Given the description of an element on the screen output the (x, y) to click on. 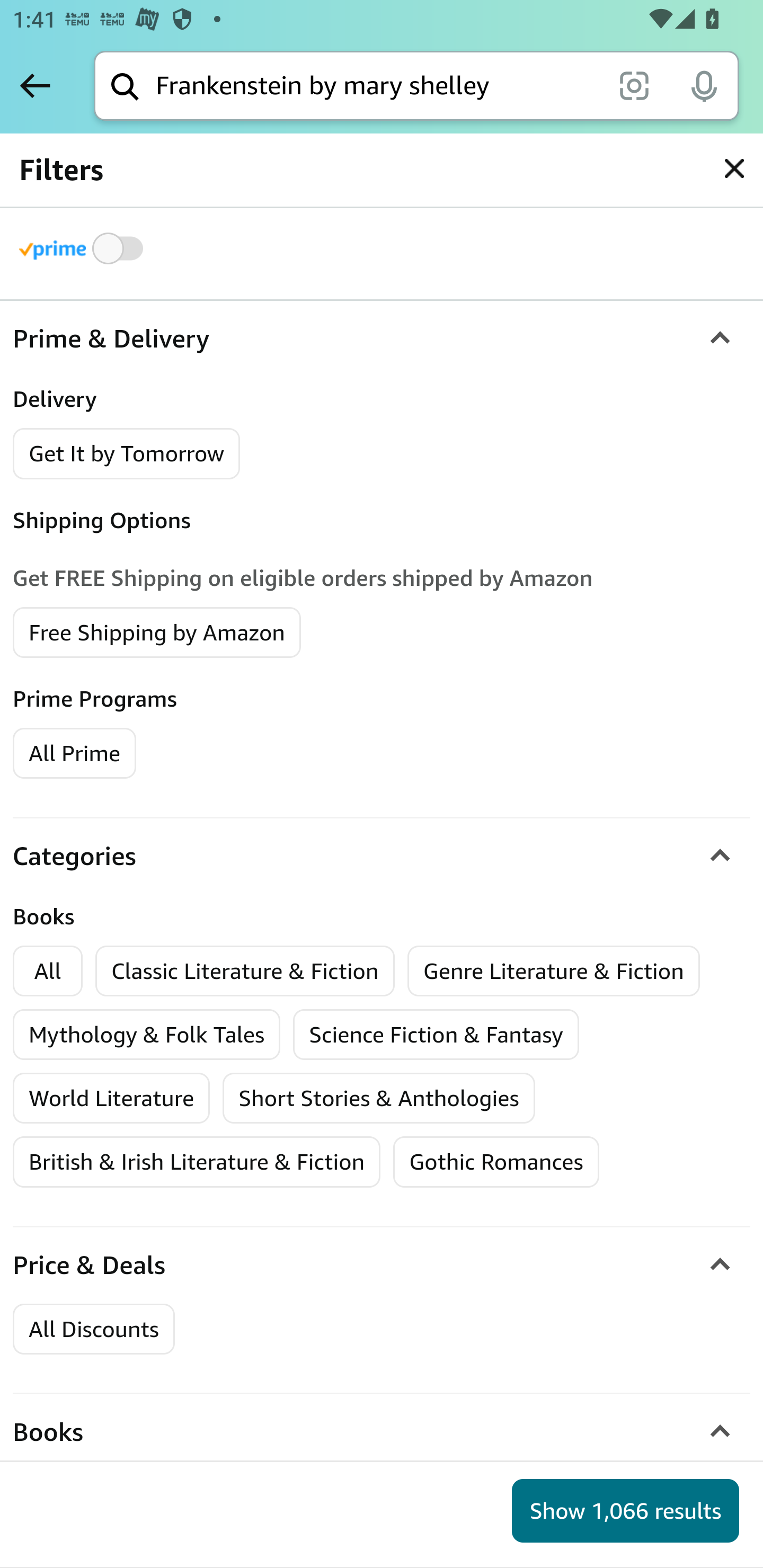
Back (35, 85)
scan it (633, 85)
Toggle to filter by Prime products Prime Eligible (83, 247)
Prime & Delivery (381, 339)
Get It by Tomorrow (126, 453)
Free Shipping by Amazon (157, 631)
All Prime (74, 752)
Categories (381, 855)
All (47, 970)
Classic Literature & Fiction (245, 970)
Genre Literature & Fiction (553, 970)
Mythology & Folk Tales (146, 1035)
Science Fiction & Fantasy (435, 1035)
World Literature (111, 1098)
Short Stories & Anthologies (378, 1098)
British & Irish Literature & Fiction (196, 1162)
Gothic Romances (495, 1162)
Price & Deals (381, 1265)
All Discounts (93, 1329)
Books (381, 1432)
Show 1,066 results (625, 1510)
